Given the description of an element on the screen output the (x, y) to click on. 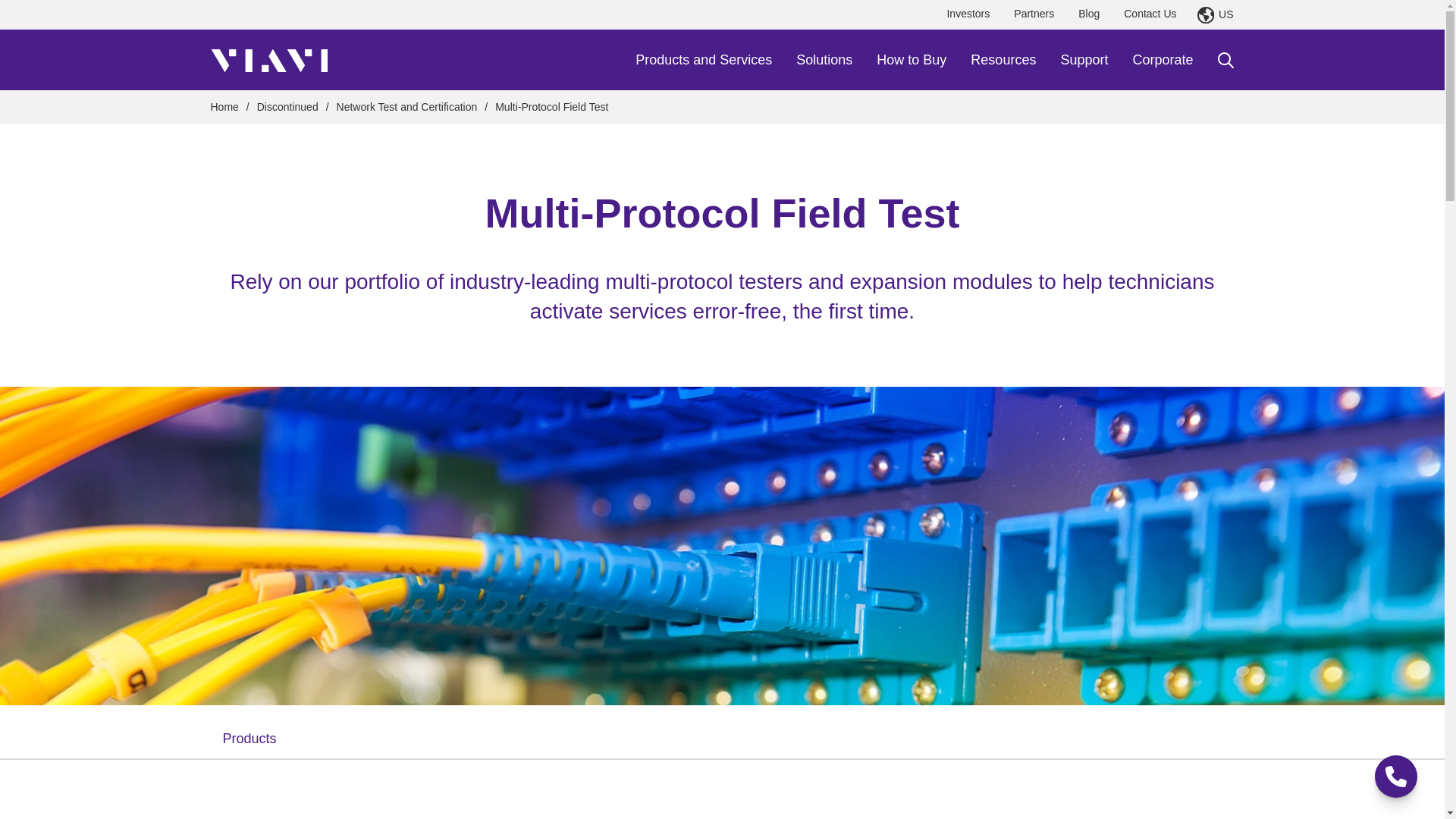
VIAVI Solutions (269, 59)
US (1214, 15)
Products and Services (702, 60)
Investors (967, 14)
Contact Us (1150, 14)
Partners (1033, 14)
Blog (1088, 14)
